Given the description of an element on the screen output the (x, y) to click on. 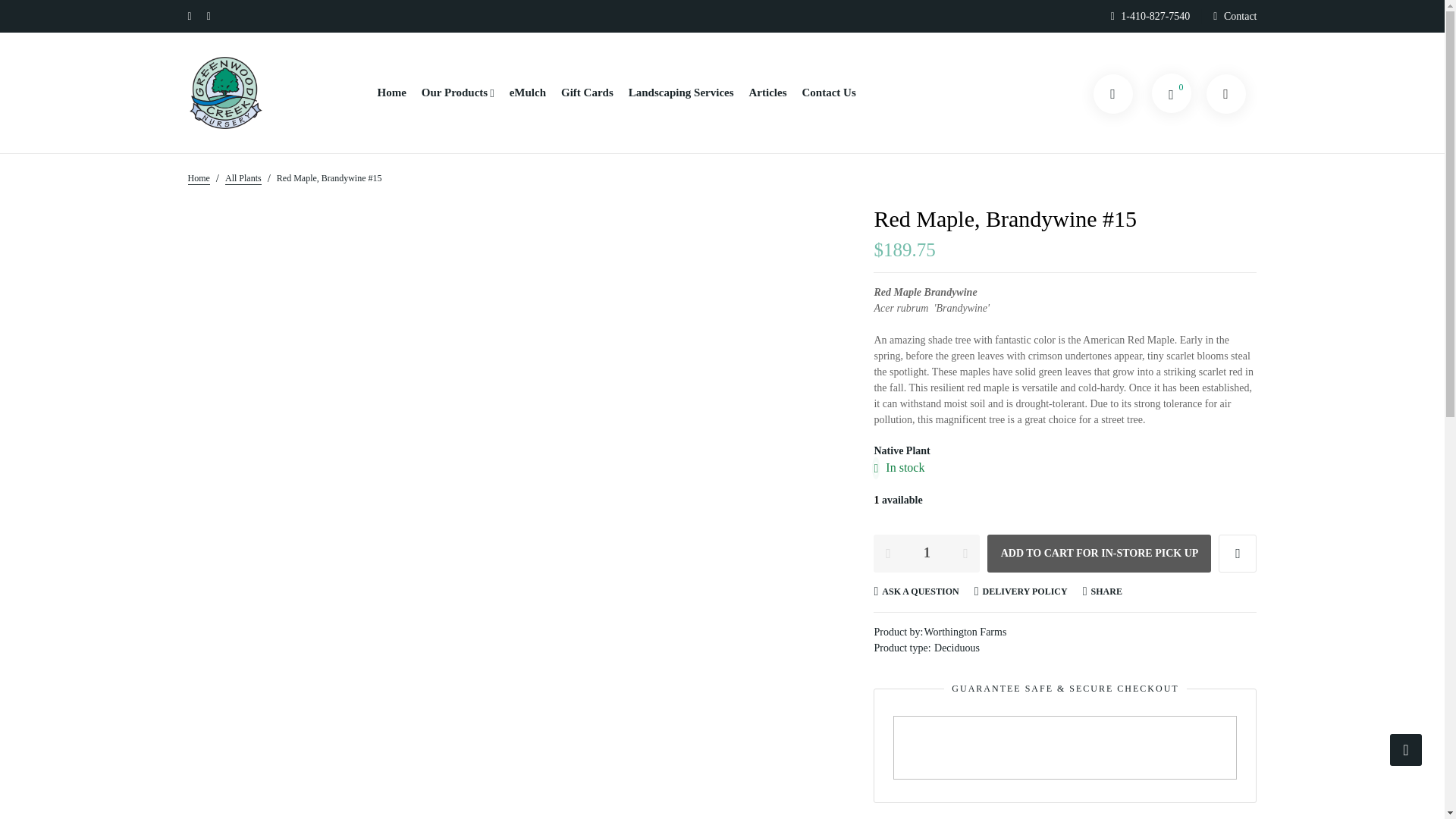
Gift Cards (586, 92)
Contact Us (829, 92)
Articles (768, 92)
Our Products (458, 92)
Home (198, 177)
1-410-827-7540 (1155, 16)
0 (1171, 93)
eMulch (527, 92)
Call Us (1155, 16)
Landscaping Services (680, 92)
